Given the description of an element on the screen output the (x, y) to click on. 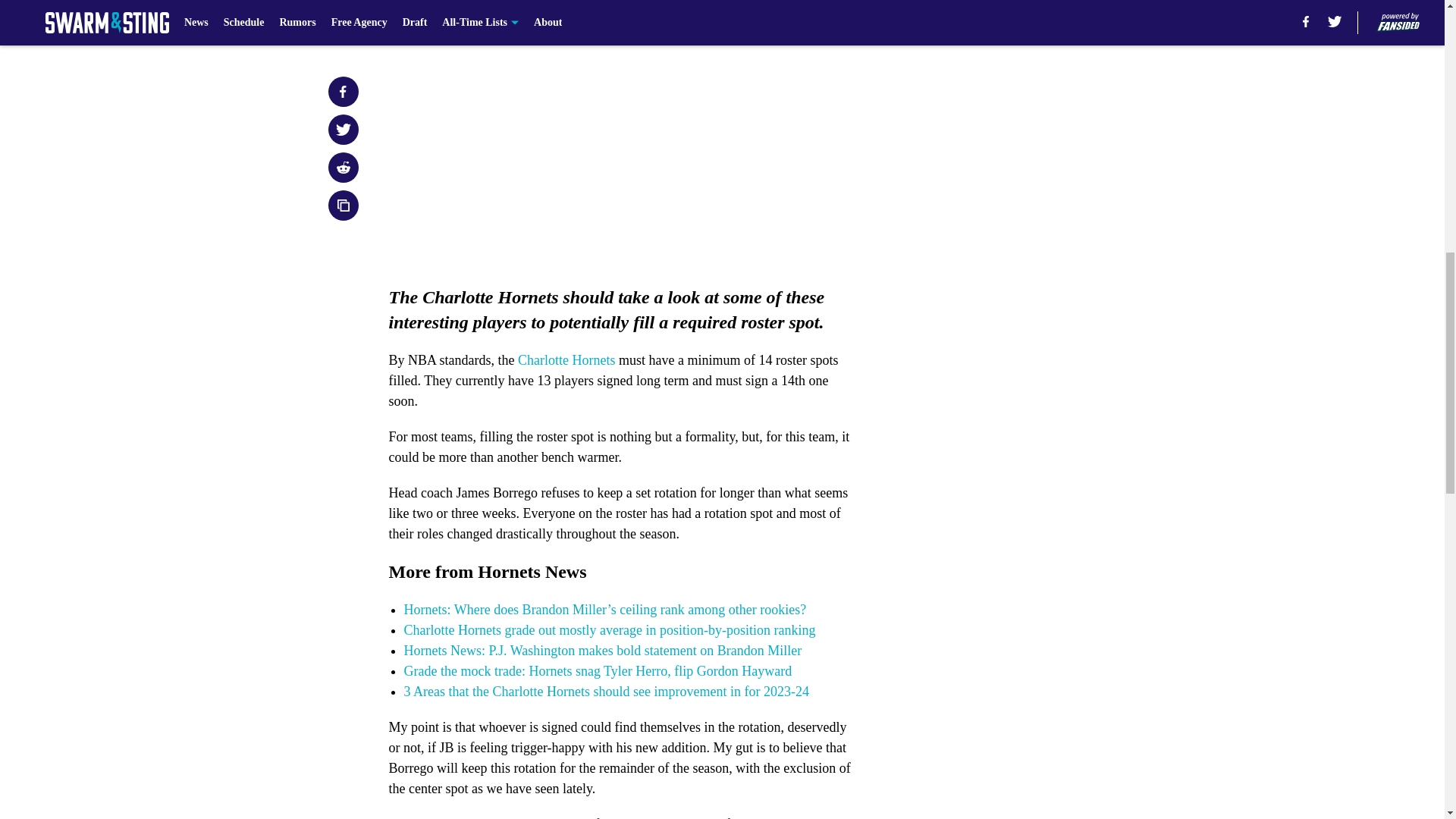
Charlotte Hornets (566, 359)
